Given the description of an element on the screen output the (x, y) to click on. 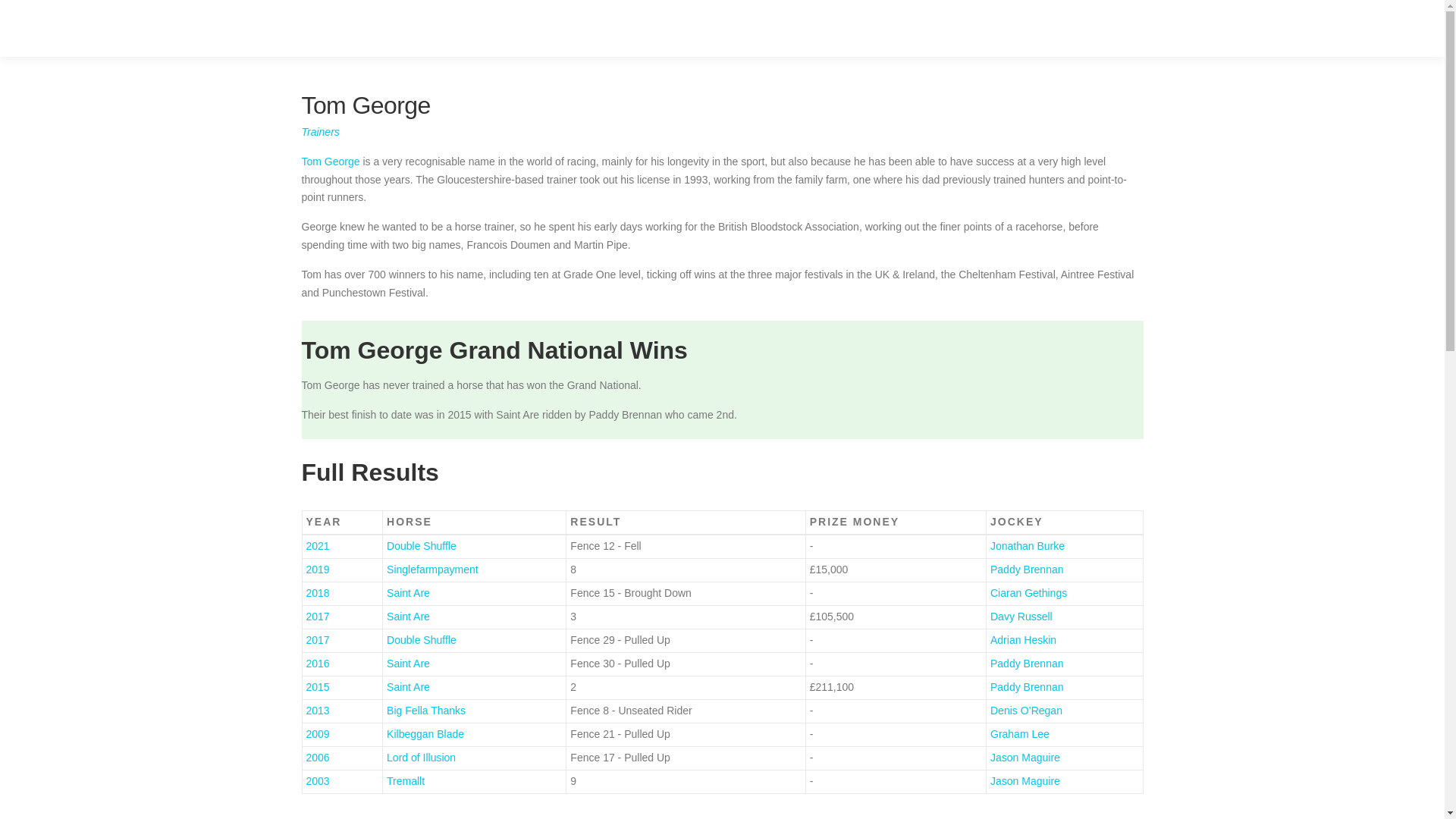
Double Shuffle (422, 639)
Saint Are (408, 592)
Jonathan Burke (1027, 545)
Paddy Brennan (1027, 686)
TRAINERS (1033, 28)
2021 (317, 545)
2013 (317, 710)
2019 (317, 569)
Singlefarmpayment (433, 569)
Paddy Brennan (1027, 569)
2017 (317, 616)
2018 (317, 592)
Adrian Heskin (1023, 639)
Paddy Brennan (1027, 663)
RESULTS (804, 28)
